Given the description of an element on the screen output the (x, y) to click on. 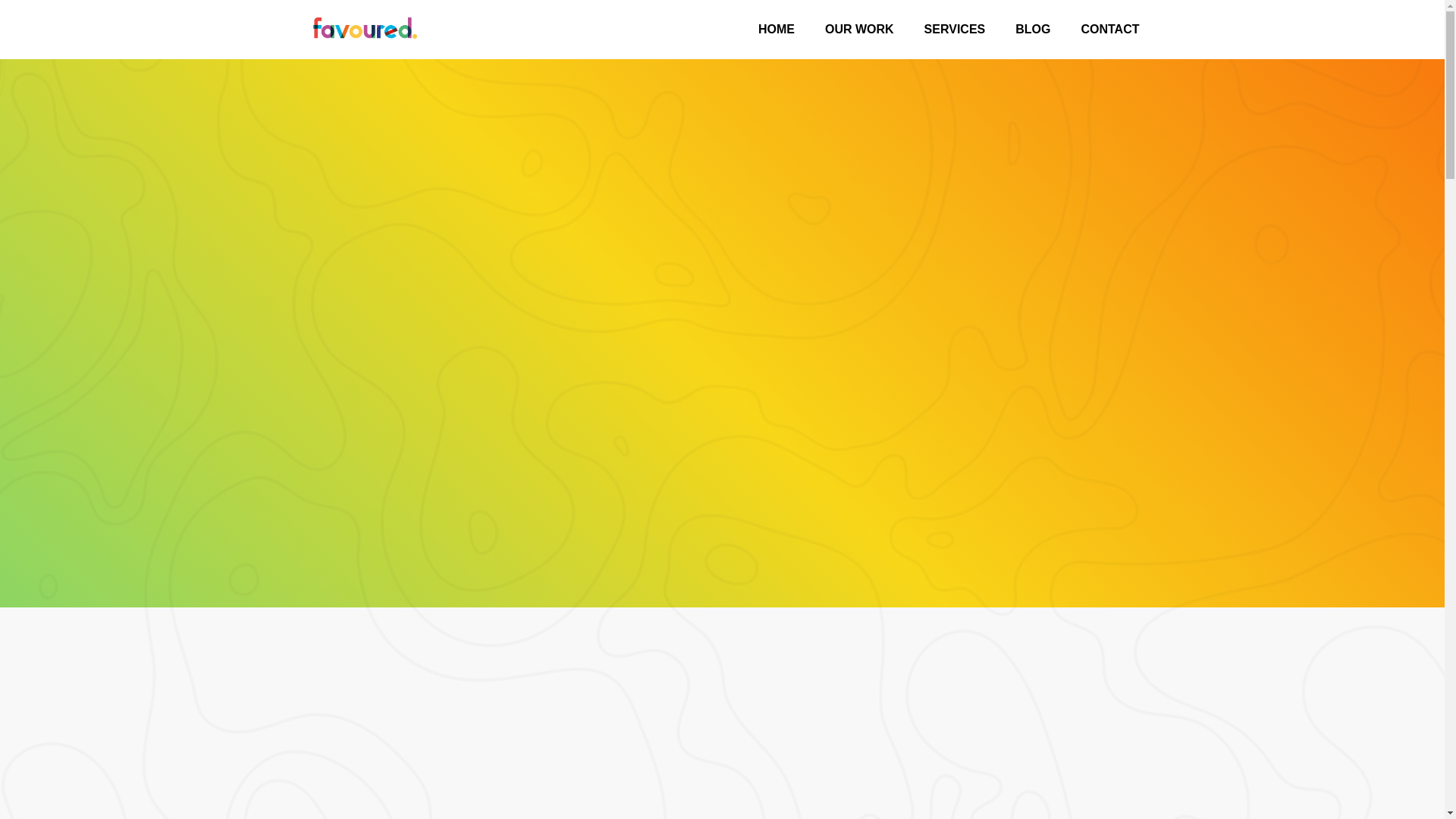
OUR WORK (858, 29)
HOME (775, 29)
BLOG (1032, 29)
CONTACT (1109, 29)
SERVICES (954, 29)
